Given the description of an element on the screen output the (x, y) to click on. 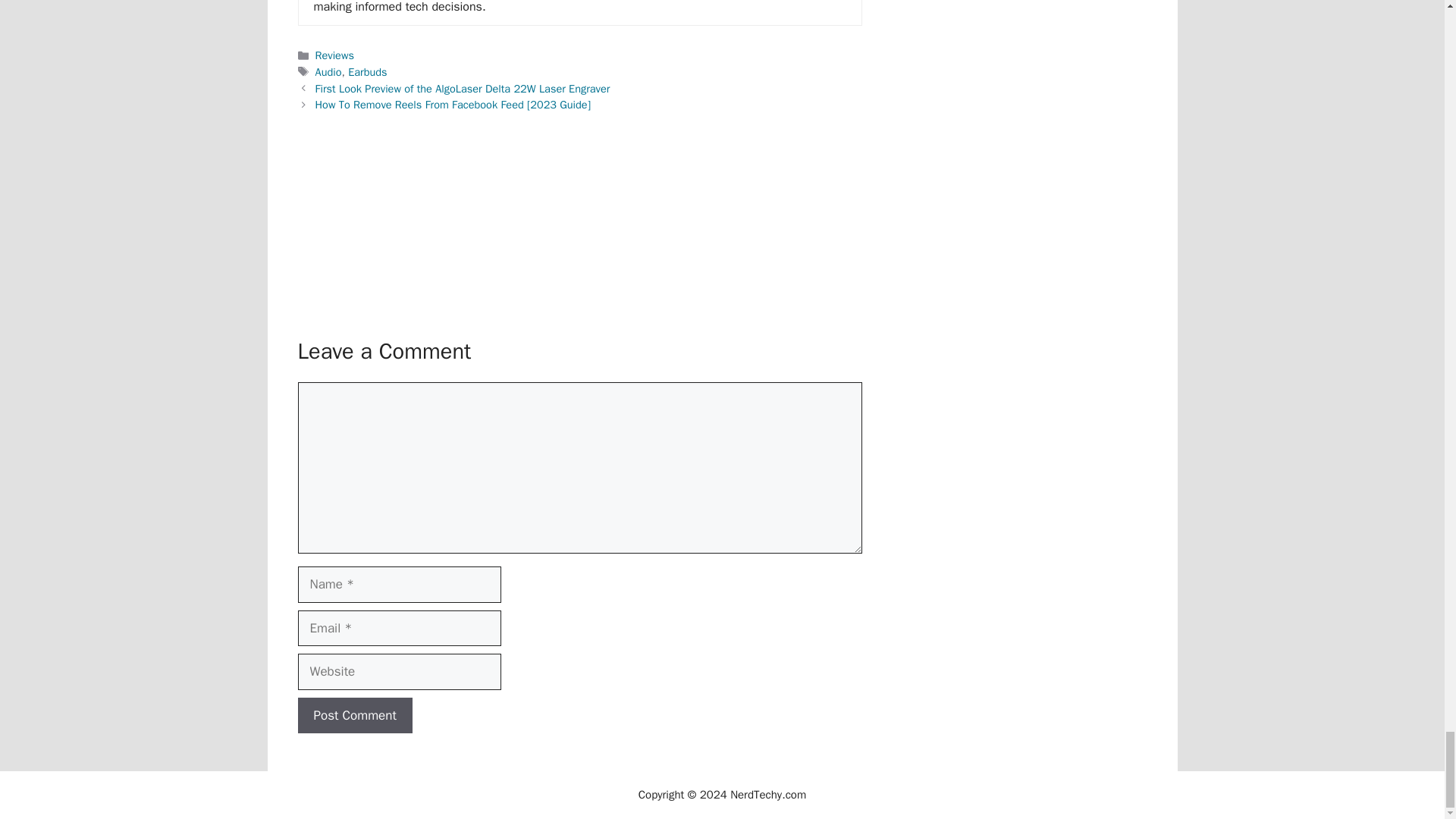
Post Comment (354, 715)
